Given the description of an element on the screen output the (x, y) to click on. 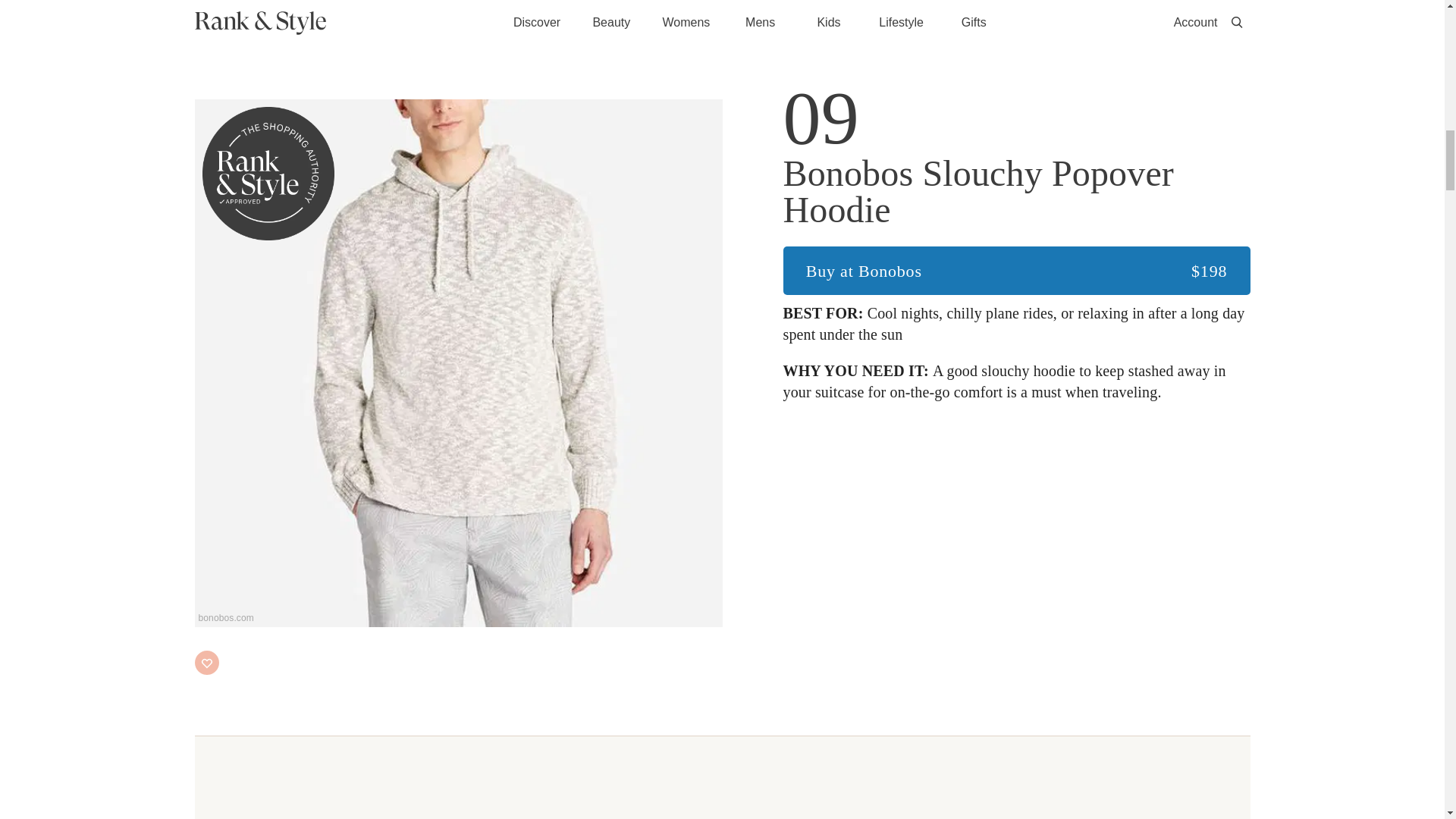
Bonobos Slouchy Popover Hoodie (1016, 191)
